Given the description of an element on the screen output the (x, y) to click on. 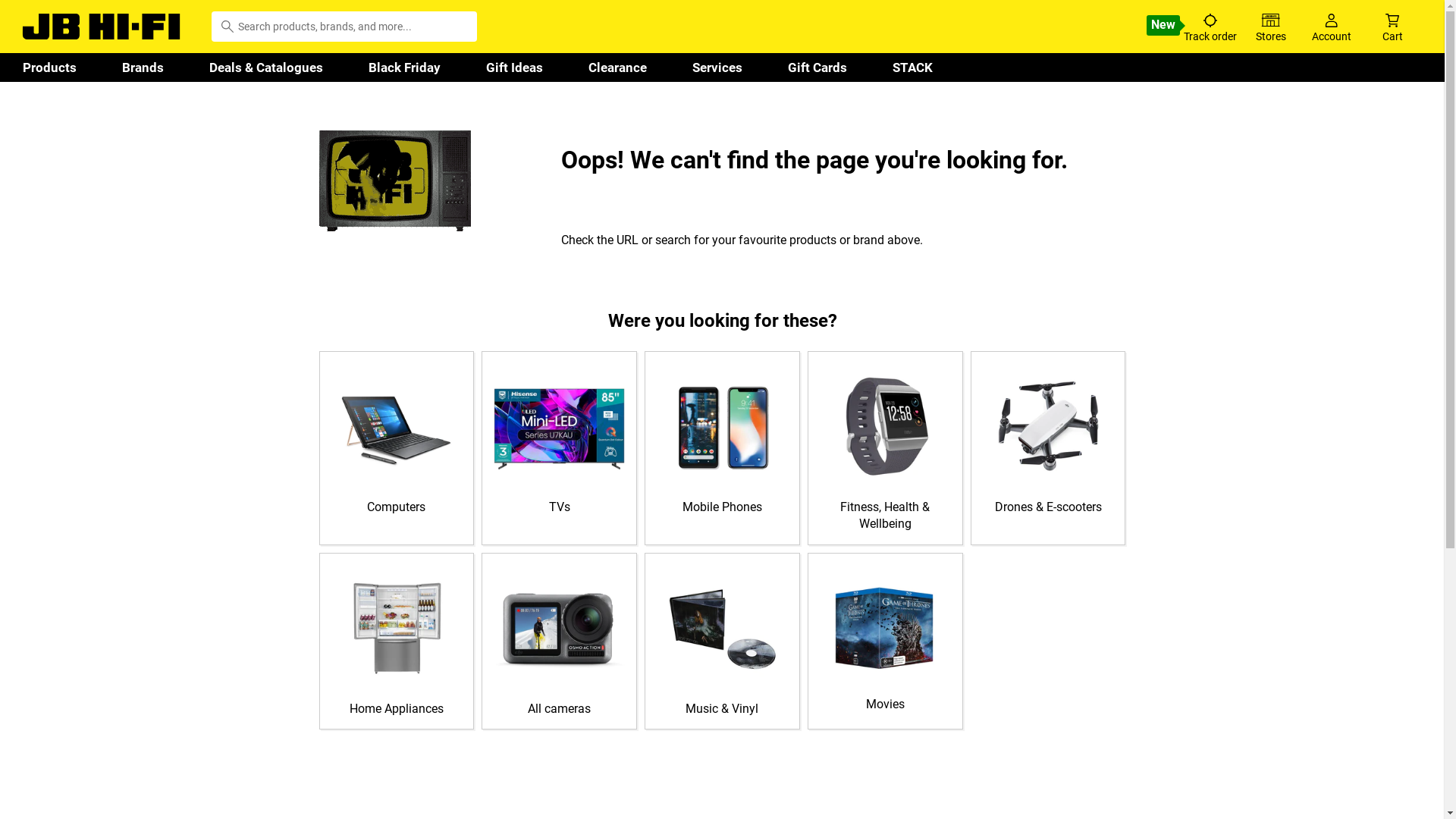
Stores Element type: text (1270, 25)
Music & Vinyl Element type: text (721, 641)
TVs Element type: text (558, 439)
Cart Element type: text (1391, 25)
Brands Element type: text (142, 67)
Computers Element type: text (395, 439)
STACK Element type: text (912, 67)
Products Element type: text (49, 67)
Fitness, Health & Wellbeing Element type: text (884, 448)
Mobile Phones Element type: text (721, 439)
Track order Element type: text (1209, 25)
Black Friday Element type: text (404, 67)
Home Appliances Element type: text (395, 641)
Drones & E-scooters Element type: text (1047, 439)
Clearance Element type: text (617, 67)
Services Element type: text (717, 67)
Gift Cards Element type: text (817, 67)
Deals & Catalogues Element type: text (265, 67)
Movies Element type: text (884, 638)
All cameras Element type: text (558, 641)
Gift Ideas Element type: text (514, 67)
Account Element type: text (1331, 25)
